Given the description of an element on the screen output the (x, y) to click on. 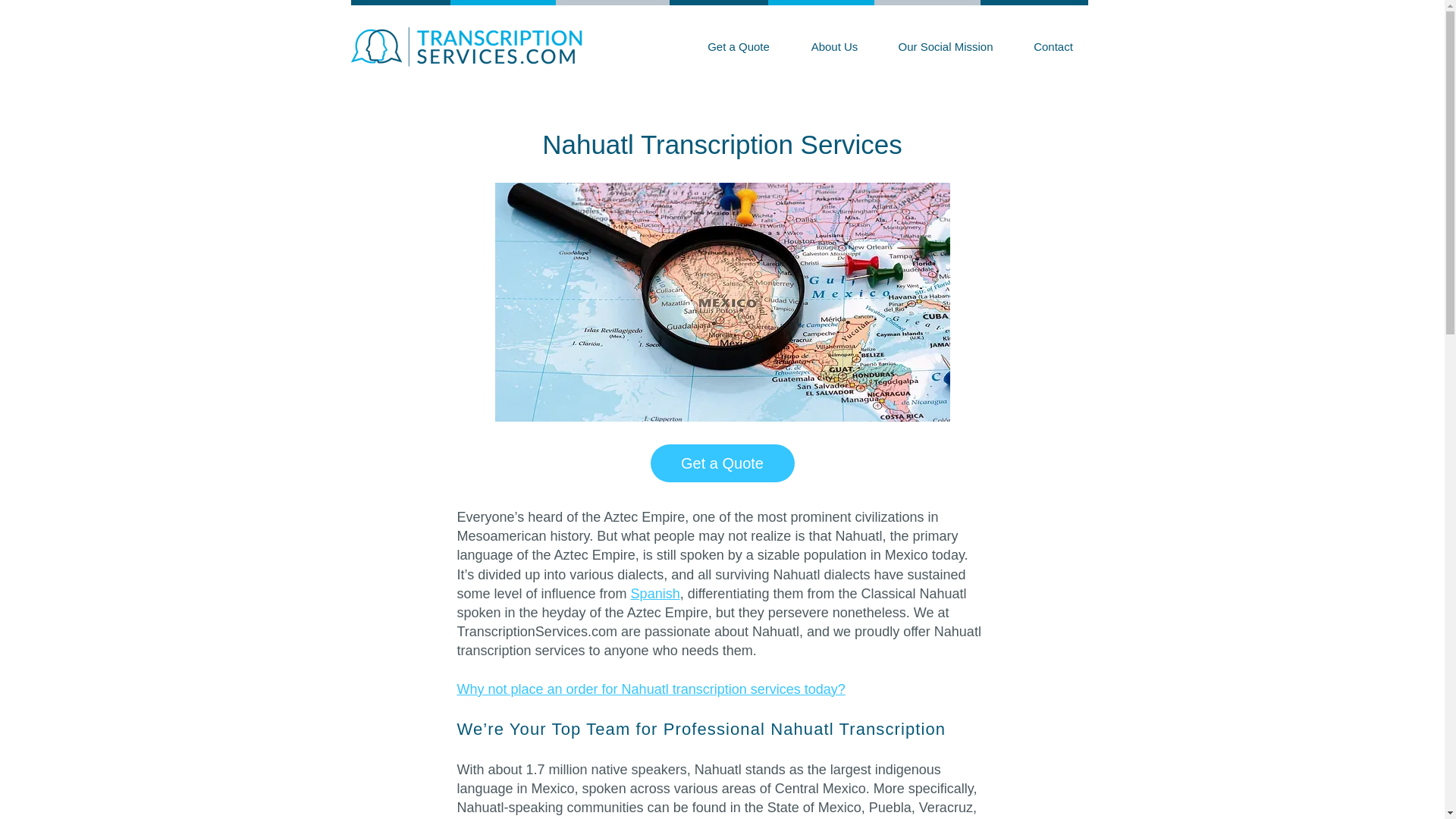
Contact (1053, 46)
Spanish (654, 593)
Get a Quote (738, 46)
Our Social Mission (945, 46)
About Us (833, 46)
Get a Quote (722, 463)
